Given the description of an element on the screen output the (x, y) to click on. 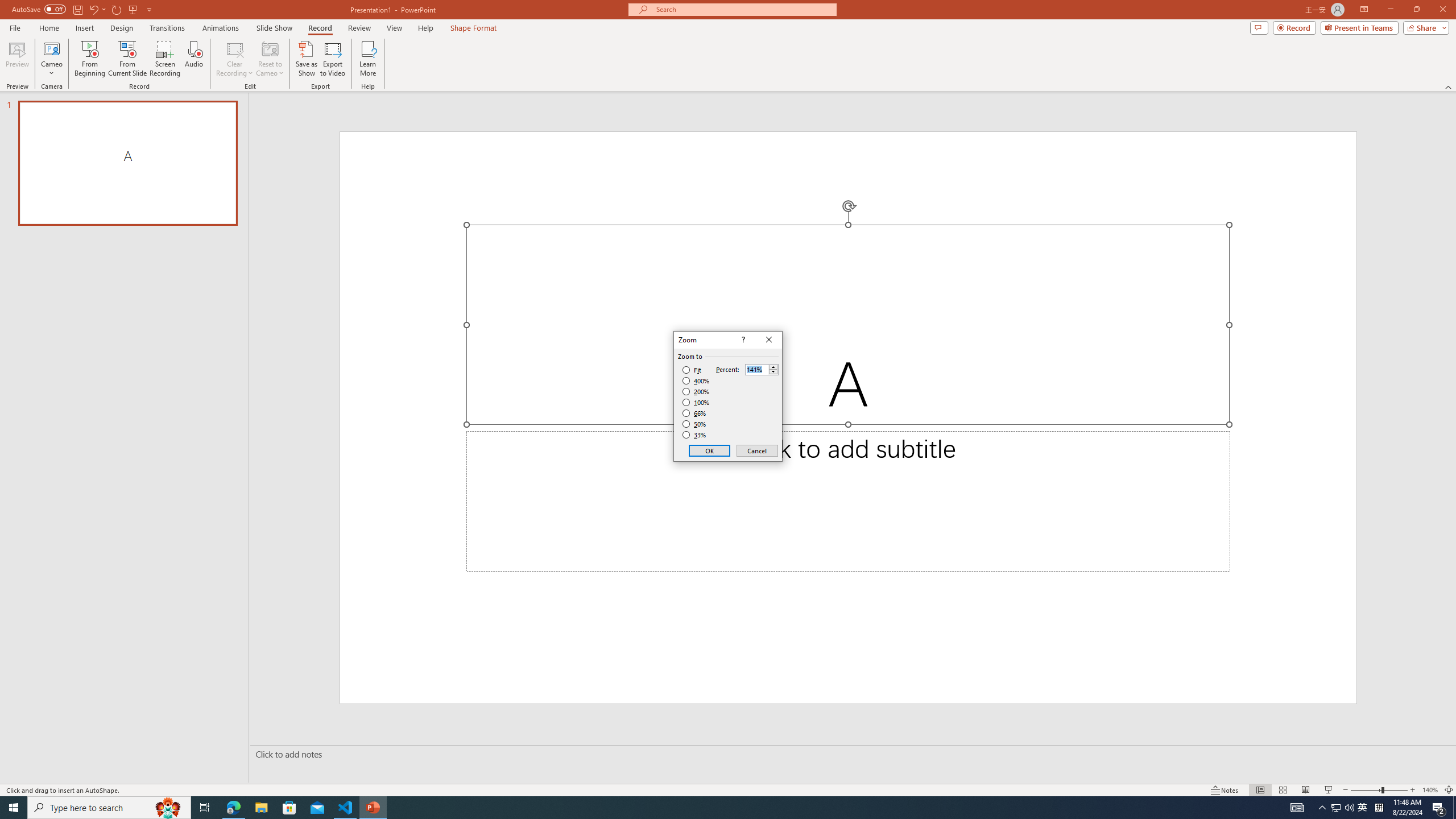
50% (694, 424)
200% (696, 391)
Percent (756, 369)
